Given the description of an element on the screen output the (x, y) to click on. 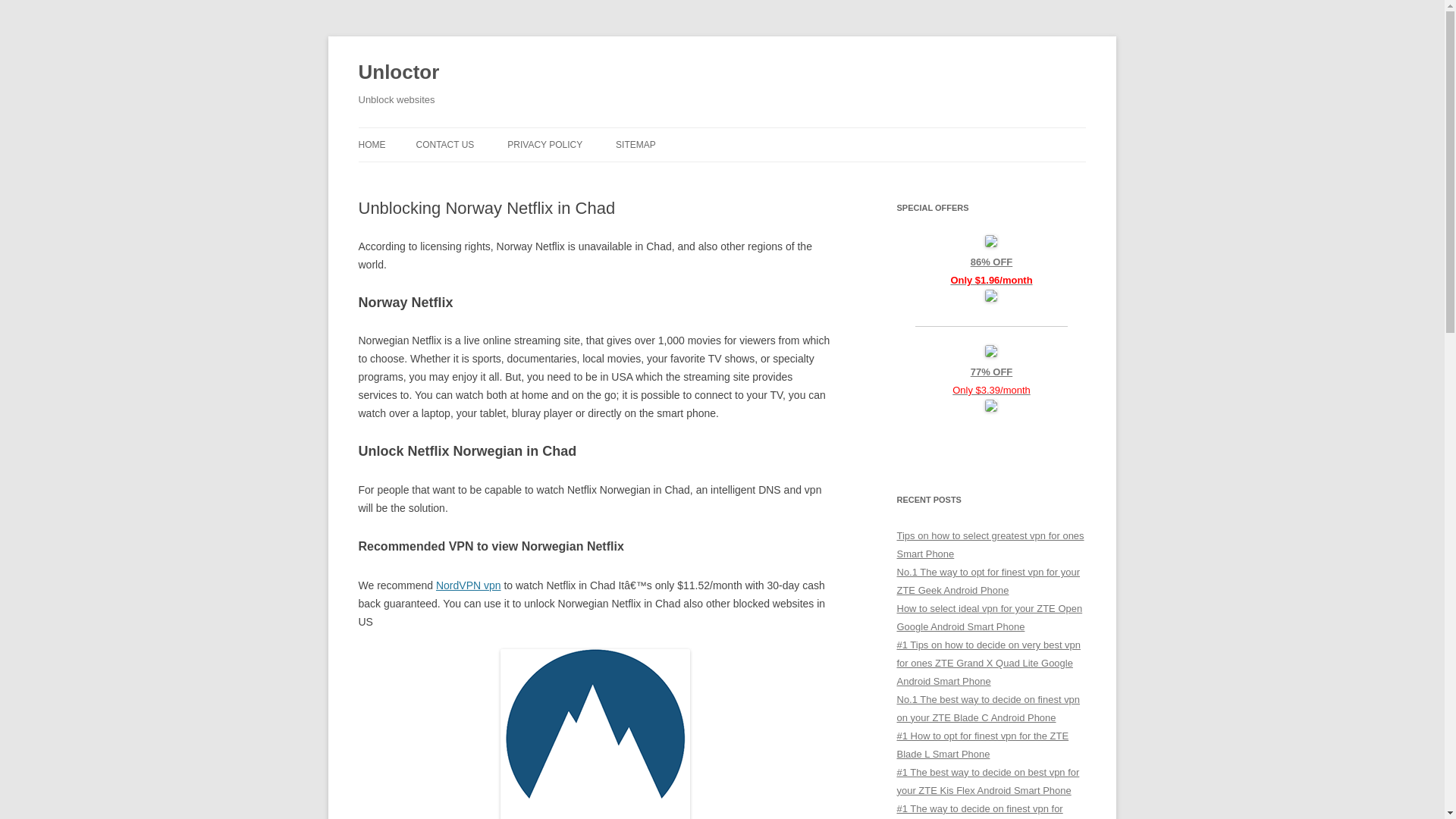
PRIVACY POLICY (544, 144)
Unloctor (398, 72)
Skip to content (757, 132)
Tips on how to select greatest vpn for ones Smart Phone (989, 544)
SITEMAP (635, 144)
NordVPN vpn (467, 585)
Unloctor (398, 72)
CONTACT US (444, 144)
